Given the description of an element on the screen output the (x, y) to click on. 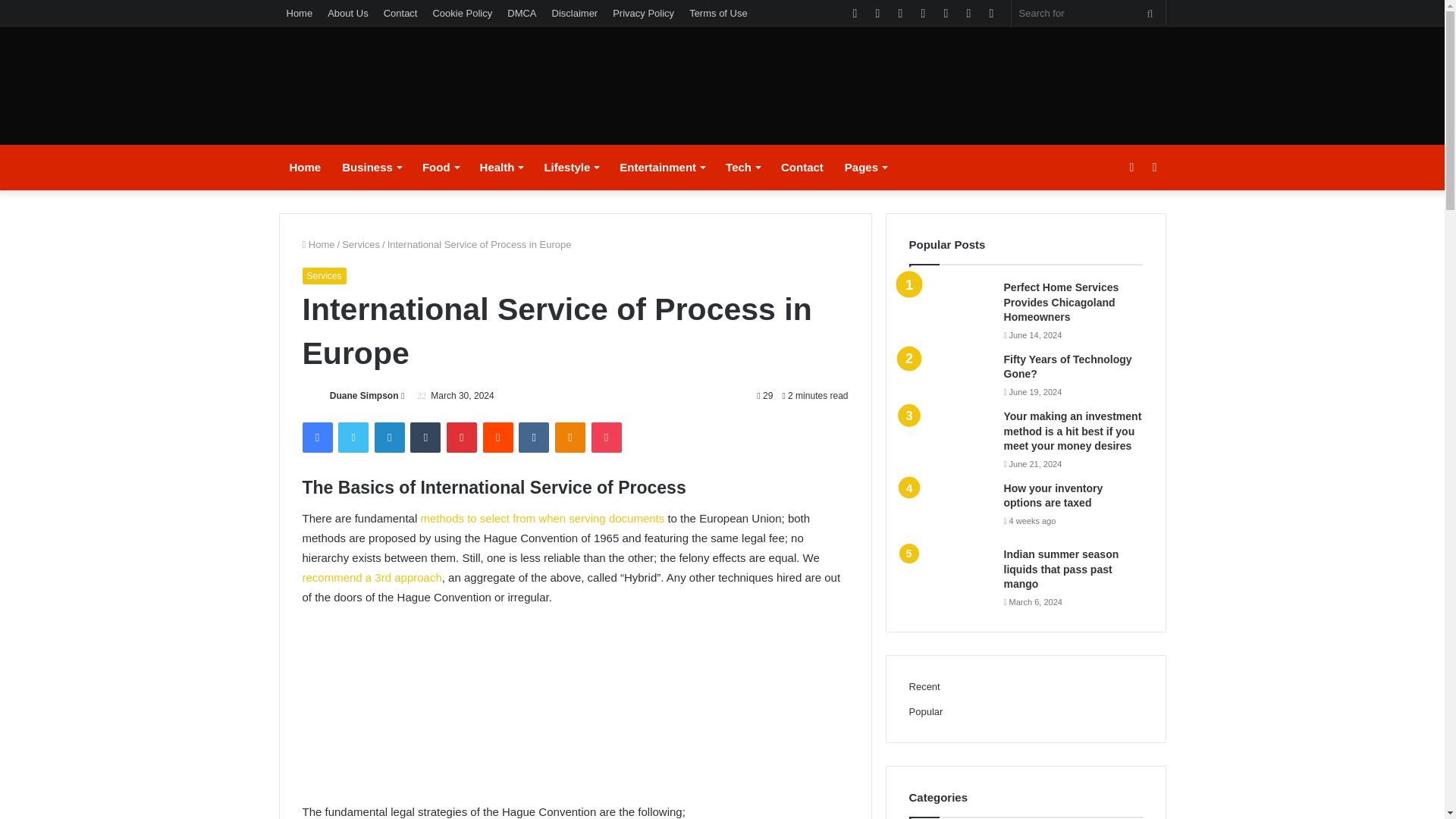
Odnoklassniki (569, 437)
Reddit (498, 437)
Quon Dime Road CST (385, 91)
DMCA (521, 13)
Pocket (606, 437)
Terms of Use (718, 13)
Health (501, 167)
Disclaimer (574, 13)
Cookie Policy (462, 13)
LinkedIn (389, 437)
Facebook (316, 437)
International Service of Process in Europe 1 (574, 701)
Home (305, 167)
About Us (347, 13)
Twitter (352, 437)
